Given the description of an element on the screen output the (x, y) to click on. 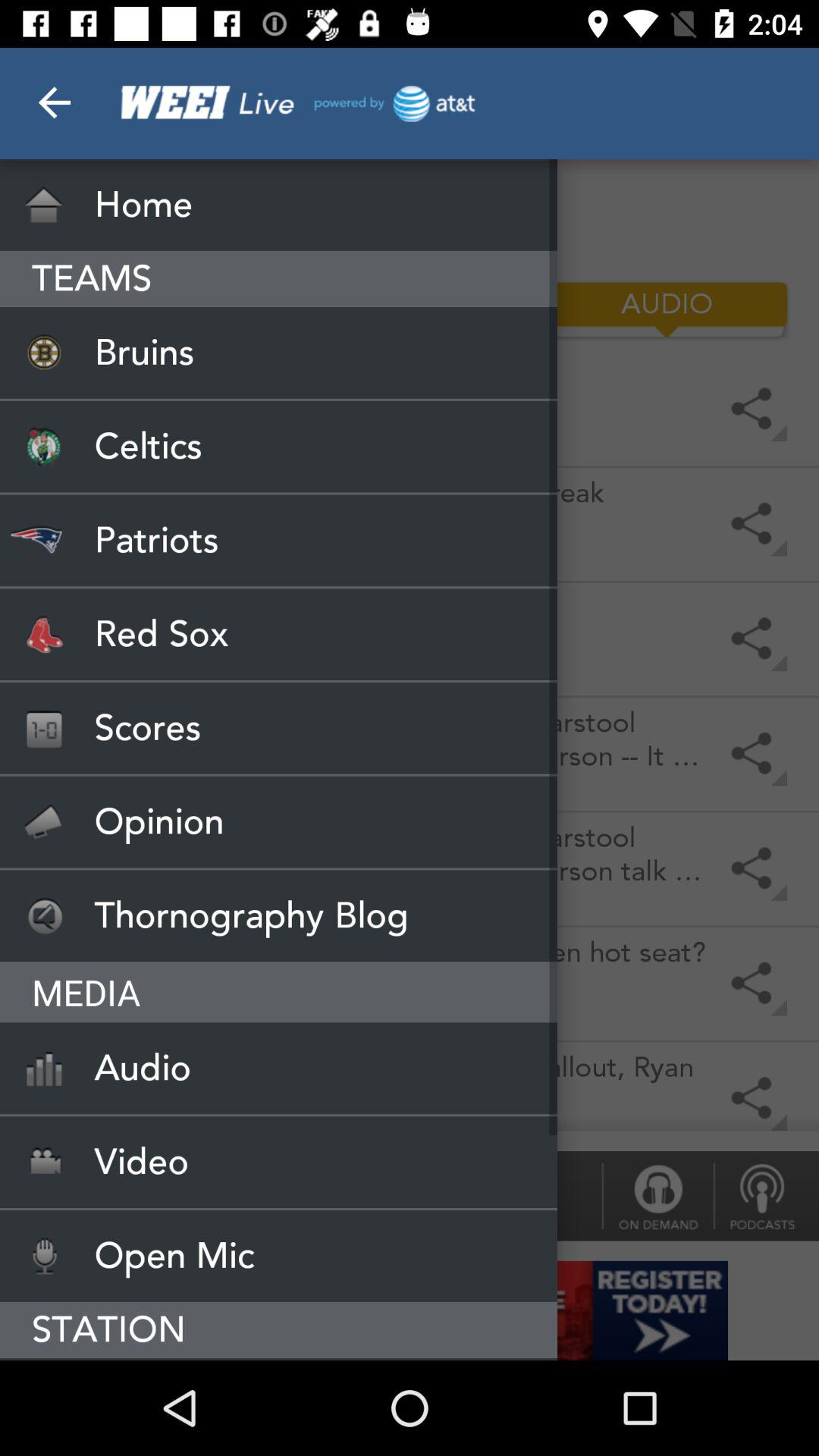
open add (409, 1310)
